Given the description of an element on the screen output the (x, y) to click on. 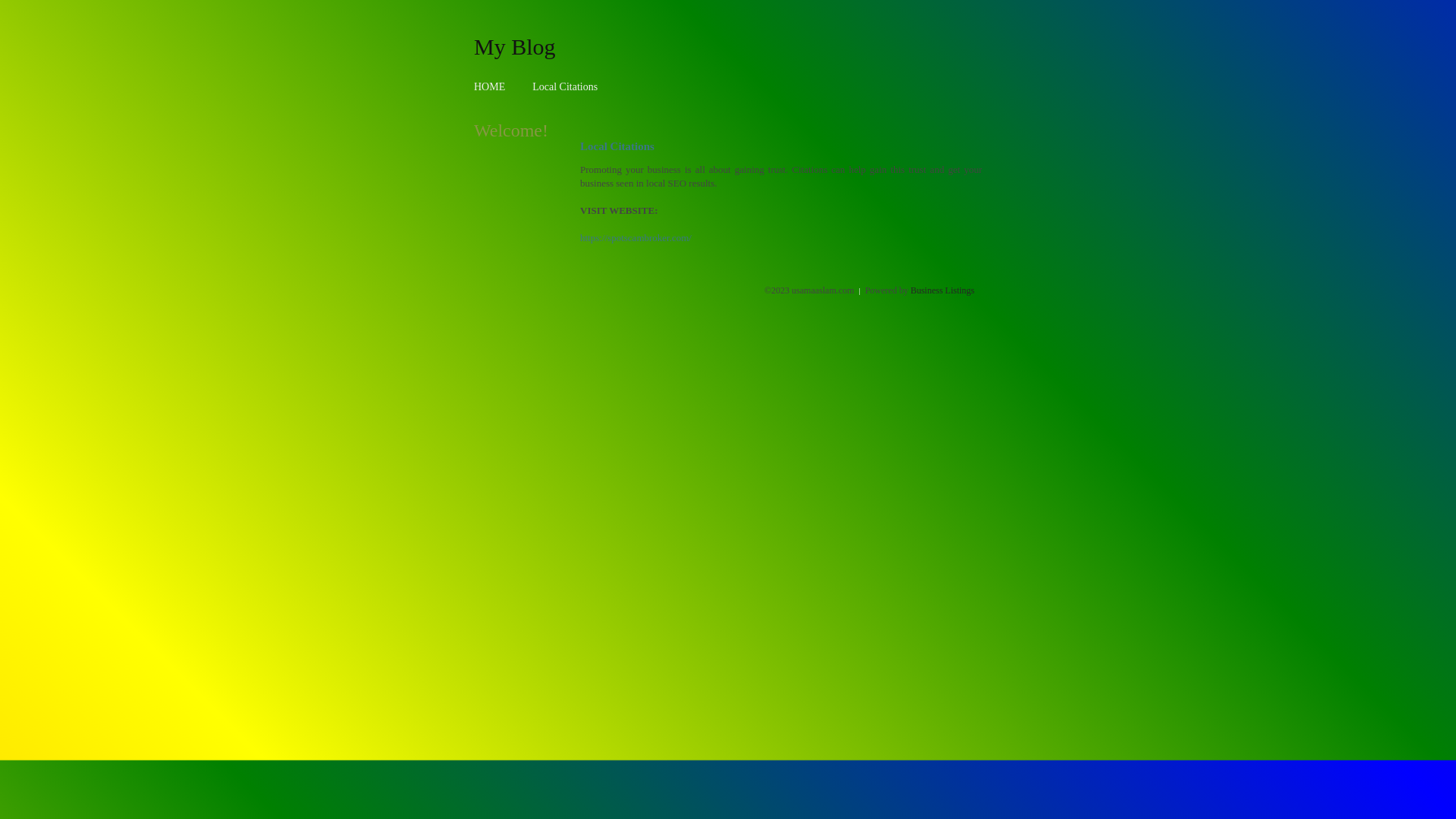
https://spotscambroker.com/ Element type: text (635, 237)
Local Citations Element type: text (564, 86)
HOME Element type: text (489, 86)
Business Listings Element type: text (942, 290)
My Blog Element type: text (514, 46)
